Given the description of an element on the screen output the (x, y) to click on. 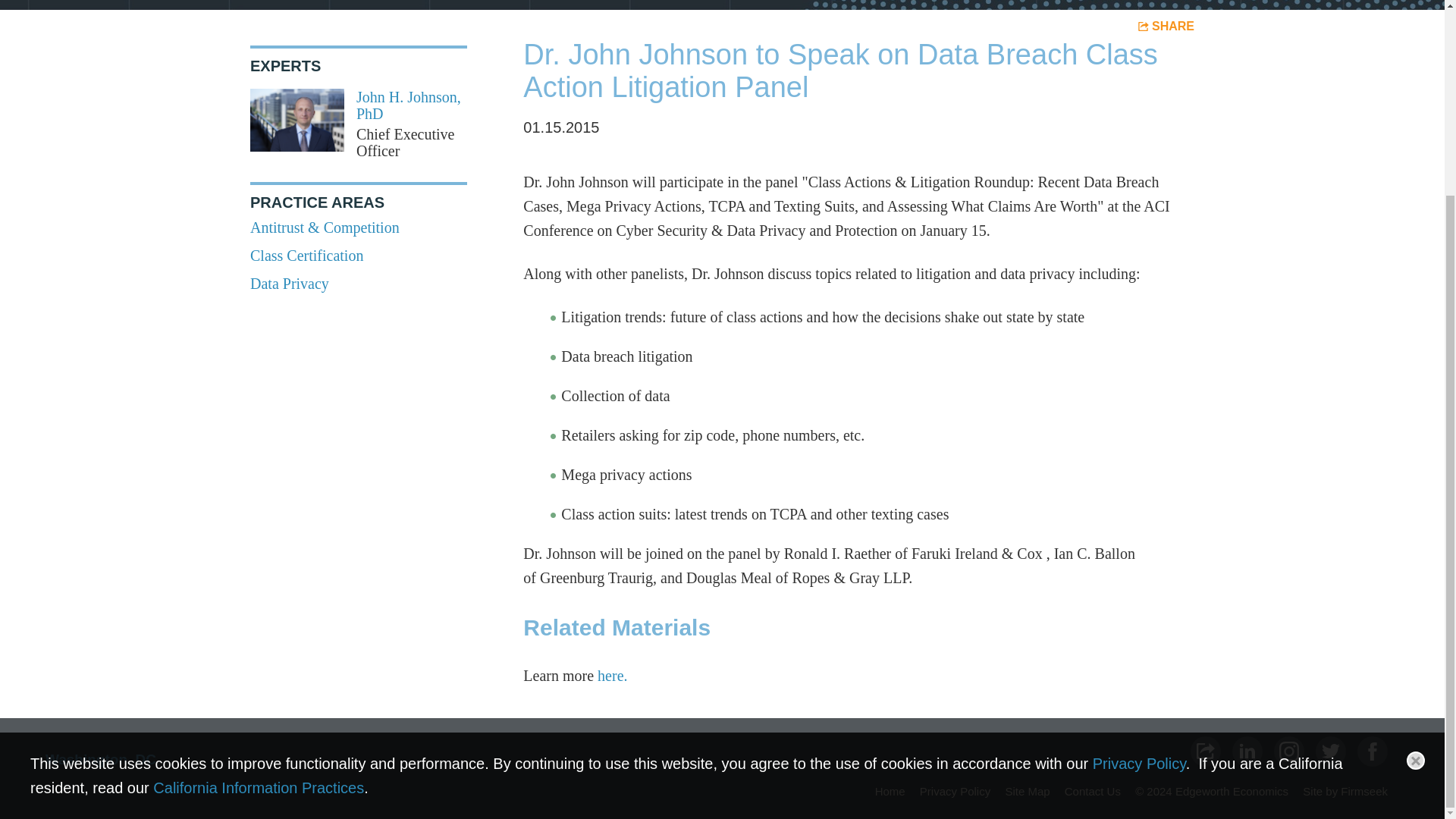
here. (611, 675)
Share (1165, 25)
Share (1206, 751)
John H. Johnson, PhD (408, 105)
LinkedIn (1246, 751)
Twitter (1330, 751)
Facebook (1371, 751)
Data Privacy (289, 283)
Privacy Information for California Residents (258, 541)
SHARE (1165, 25)
